Given the description of an element on the screen output the (x, y) to click on. 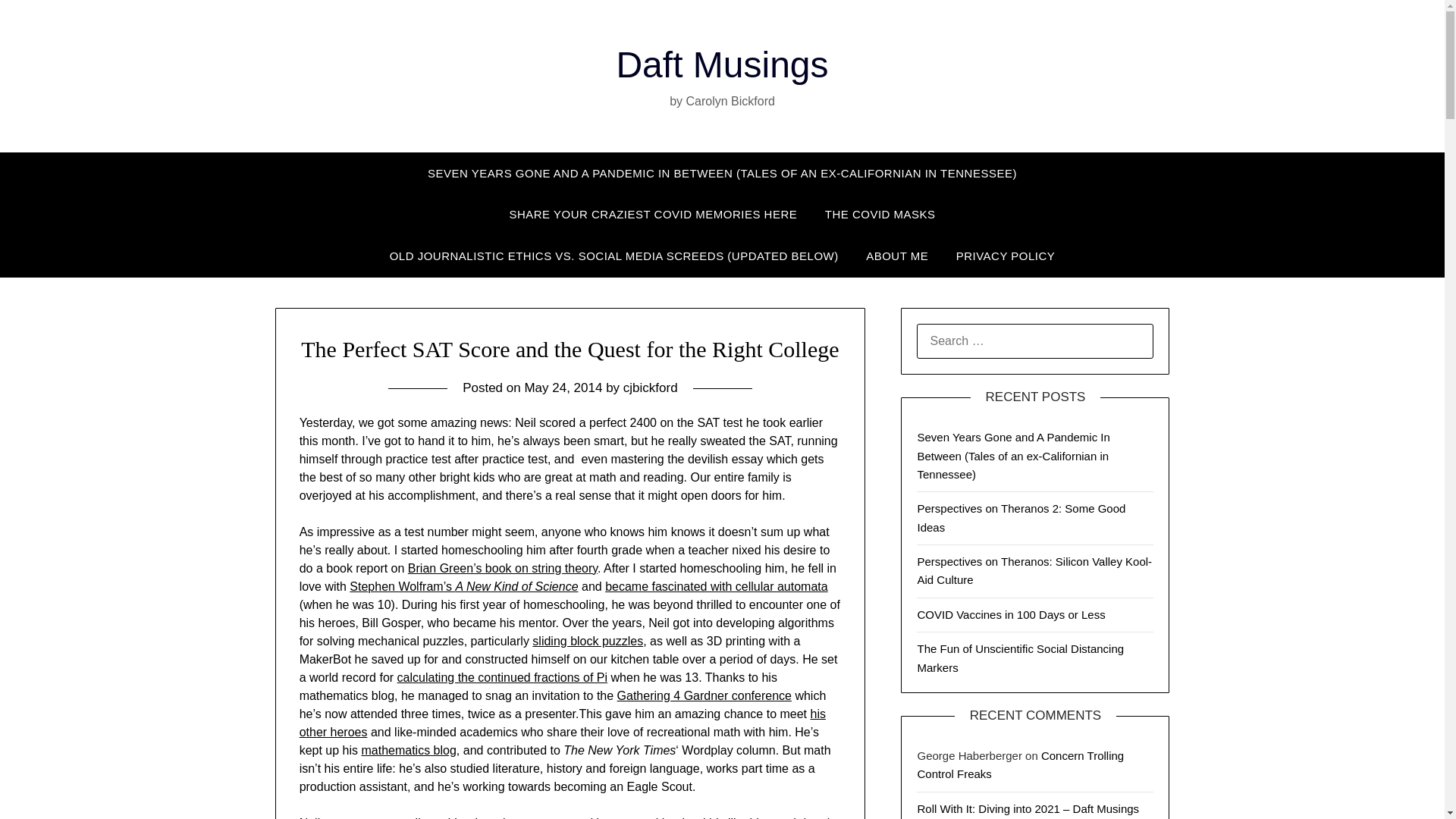
THE COVID MASKS (879, 214)
became fascinated with cellular automata (716, 585)
cjbickford (650, 387)
Gathering 4 Gardner conference (704, 695)
calculating the continued fractions of Pi (502, 676)
Perspectives on Theranos: Silicon Valley Kool-Aid Culture (1034, 570)
Perspectives on Theranos 2: Some Good Ideas (1021, 517)
May 24, 2014 (563, 387)
SHARE YOUR CRAZIEST COVID MEMORIES HERE (652, 214)
mathematics blog (408, 749)
COVID Vaccines in 100 Days or Less (1011, 614)
Search (38, 22)
The Fun of Unscientific Social Distancing Markers (1020, 657)
Concern Trolling Control Freaks (1020, 764)
sliding block puzzles (587, 640)
